Given the description of an element on the screen output the (x, y) to click on. 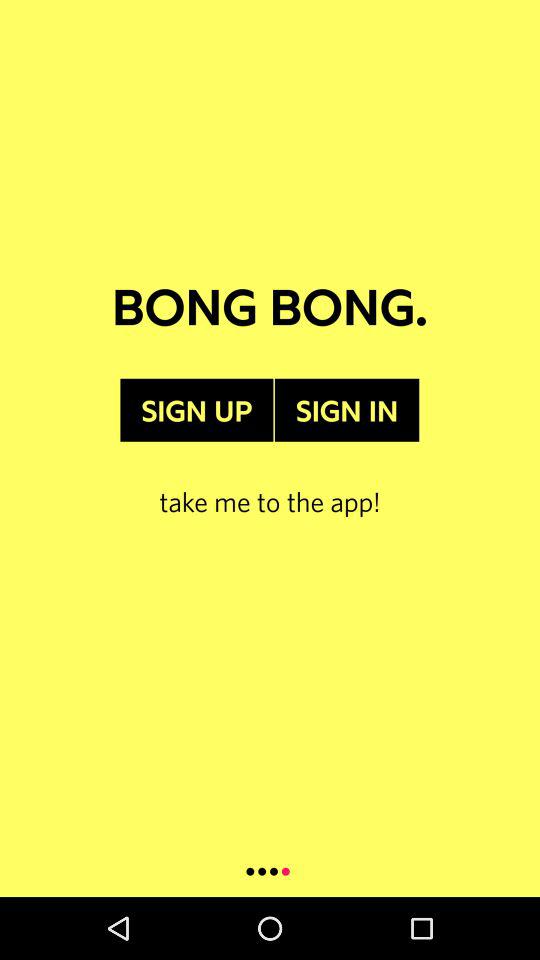
launch the item below bong bong. item (196, 409)
